Given the description of an element on the screen output the (x, y) to click on. 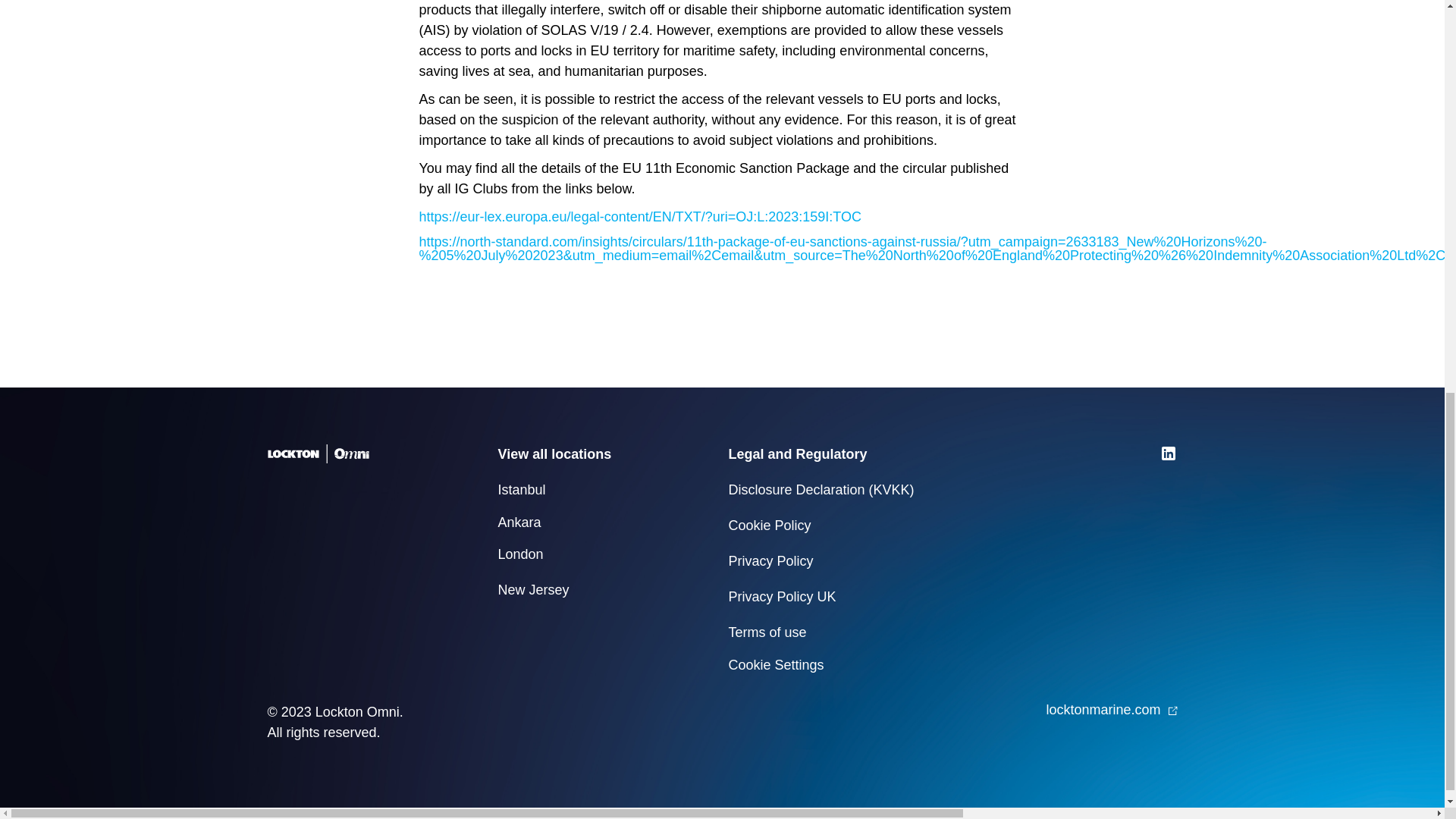
London (520, 554)
Legal and Regulatory (797, 454)
New Jersey (533, 589)
Istanbul (520, 489)
View all locations (554, 454)
Cookie Policy (769, 525)
